Given the description of an element on the screen output the (x, y) to click on. 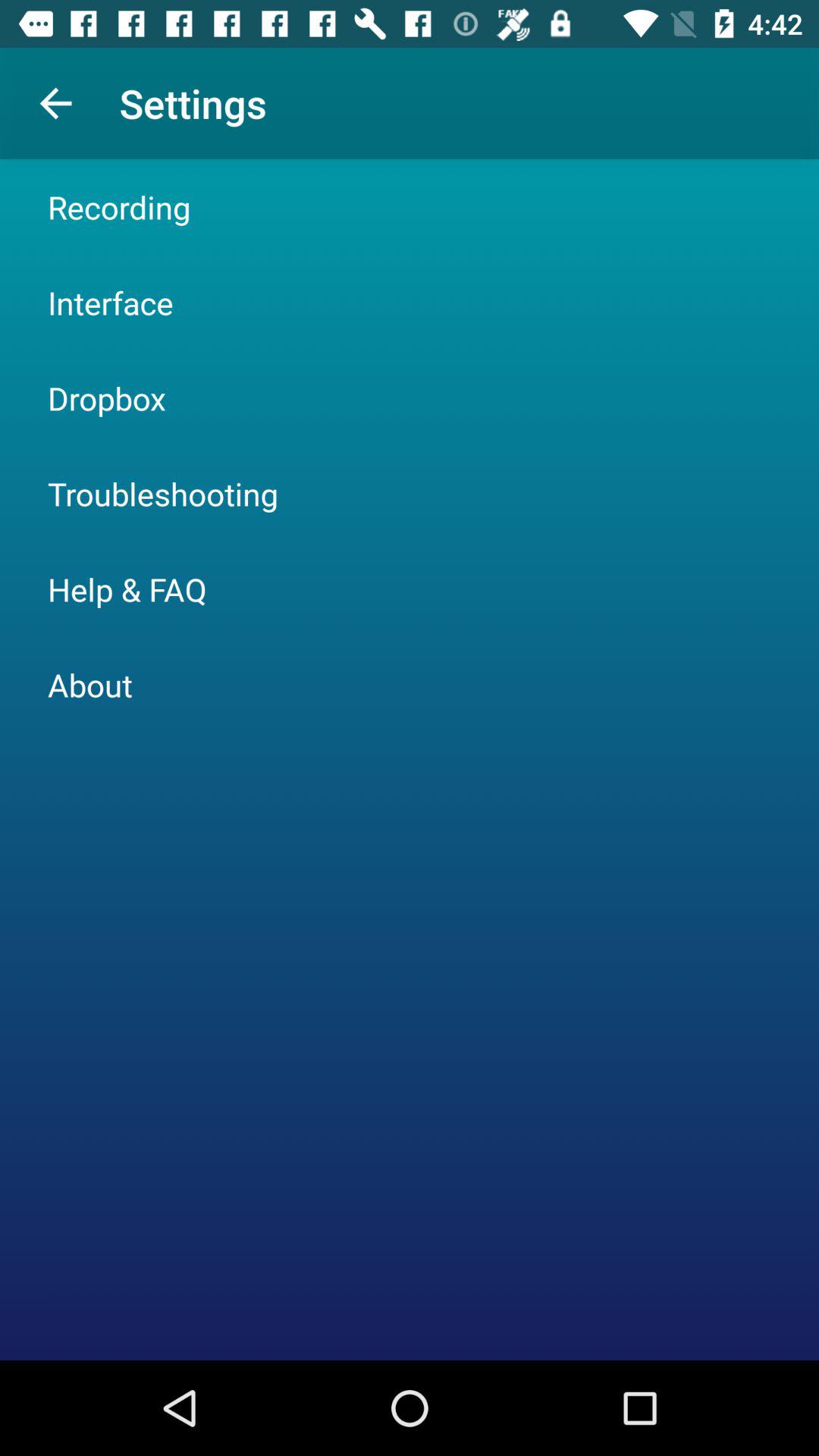
turn off item to the left of settings app (55, 103)
